Given the description of an element on the screen output the (x, y) to click on. 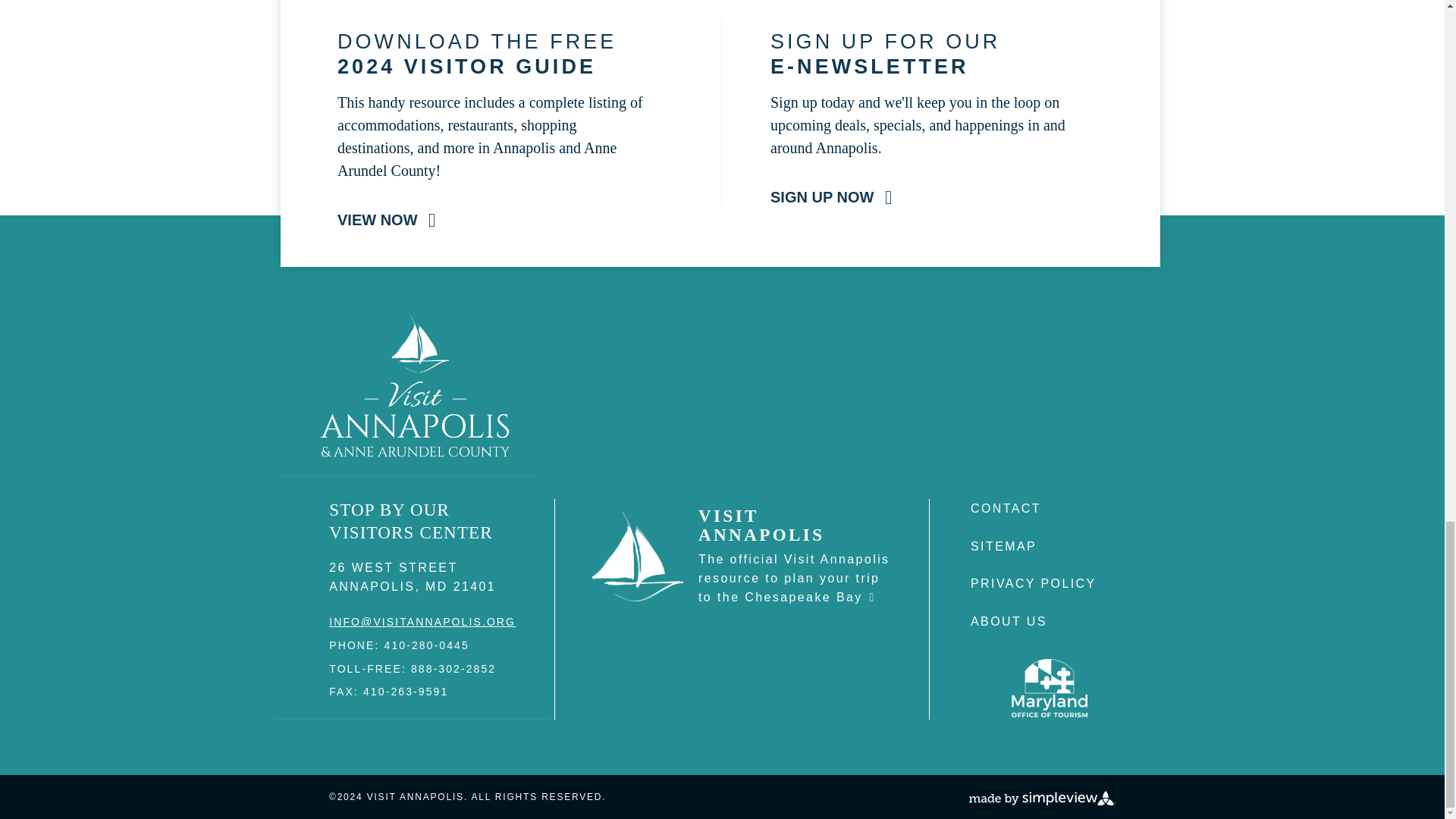
Contact (1006, 508)
Sitemap (1003, 545)
Privacy Policy (1033, 583)
About Us (1008, 621)
